Given the description of an element on the screen output the (x, y) to click on. 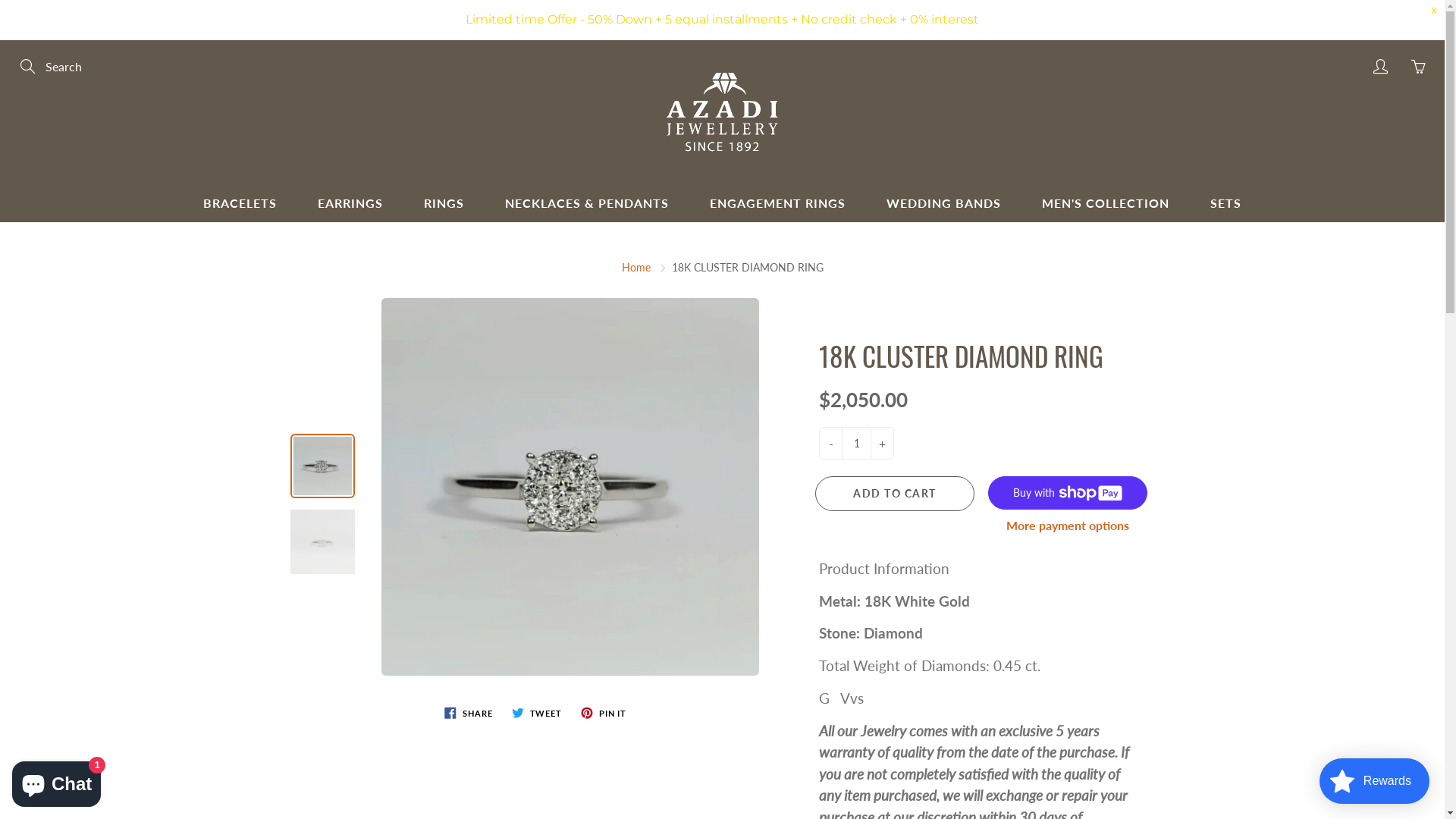
Search Element type: text (28, 66)
+ Element type: text (882, 442)
ENGAGEMENT RINGS Element type: text (777, 203)
18K  CLUSTER DIAMOND RING Element type: hover (321, 465)
RINGS Element type: text (443, 203)
NECKLACES & PENDANTS Element type: text (586, 203)
TWEET Element type: text (536, 711)
18K  CLUSTER DIAMOND RING Element type: hover (569, 486)
PIN IT Element type: text (603, 711)
BRACELETS Element type: text (239, 203)
You have 0 items in your cart Element type: text (1417, 66)
ADD TO CART Element type: text (894, 493)
WEDDING BANDS Element type: text (943, 203)
More payment options Element type: text (1066, 525)
SETS Element type: text (1225, 203)
EARRINGS Element type: text (349, 203)
Shopify online store chat Element type: hover (56, 780)
Home Element type: text (635, 266)
SHARE Element type: text (468, 711)
My account Element type: text (1379, 66)
18K  CLUSTER DIAMOND RING Element type: hover (321, 541)
MEN'S COLLECTION Element type: text (1105, 203)
- Element type: text (830, 442)
